Given the description of an element on the screen output the (x, y) to click on. 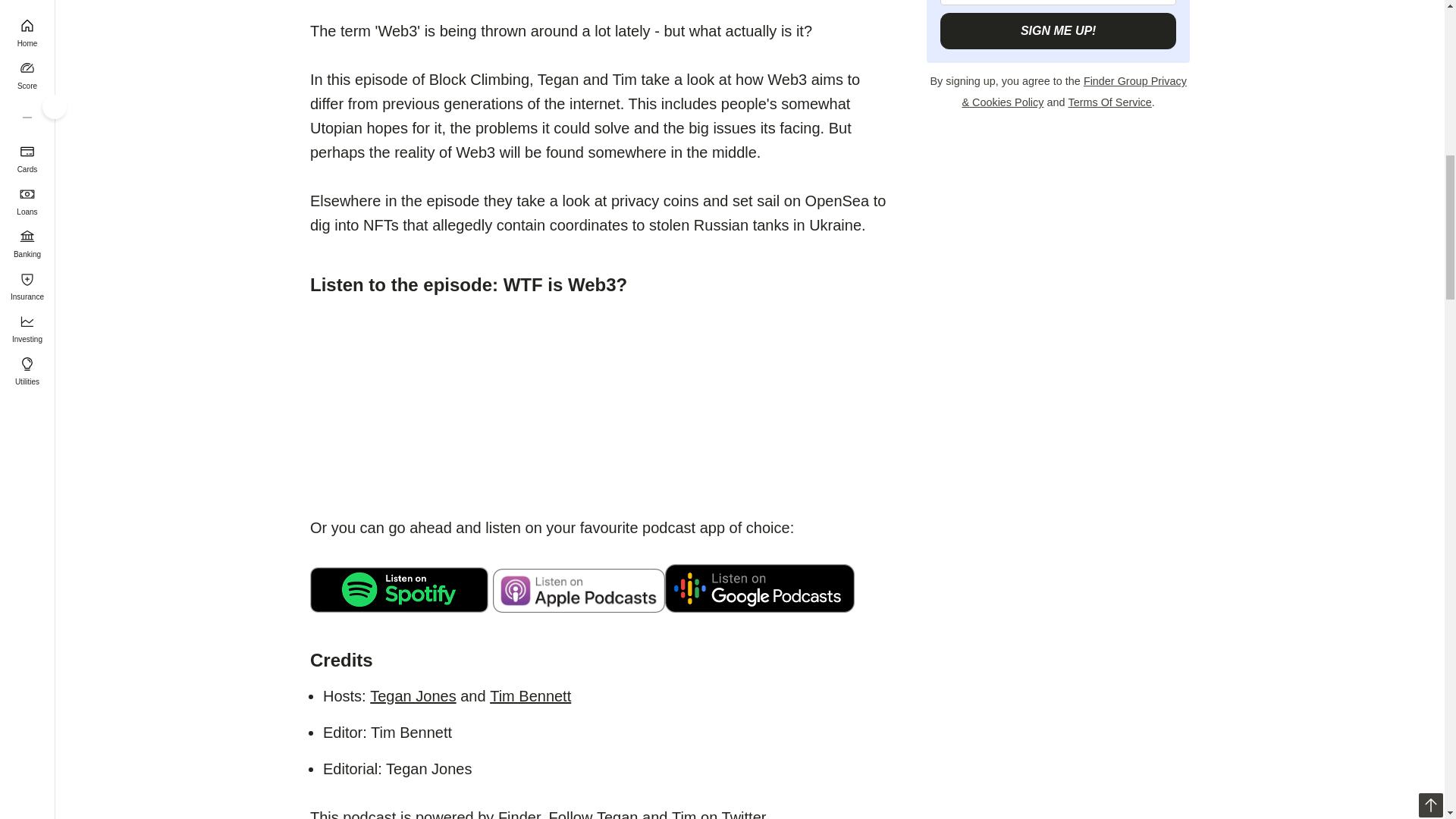
Image: Supplied (579, 590)
Image: Supplied (398, 589)
Image: Supplied (759, 588)
